Given the description of an element on the screen output the (x, y) to click on. 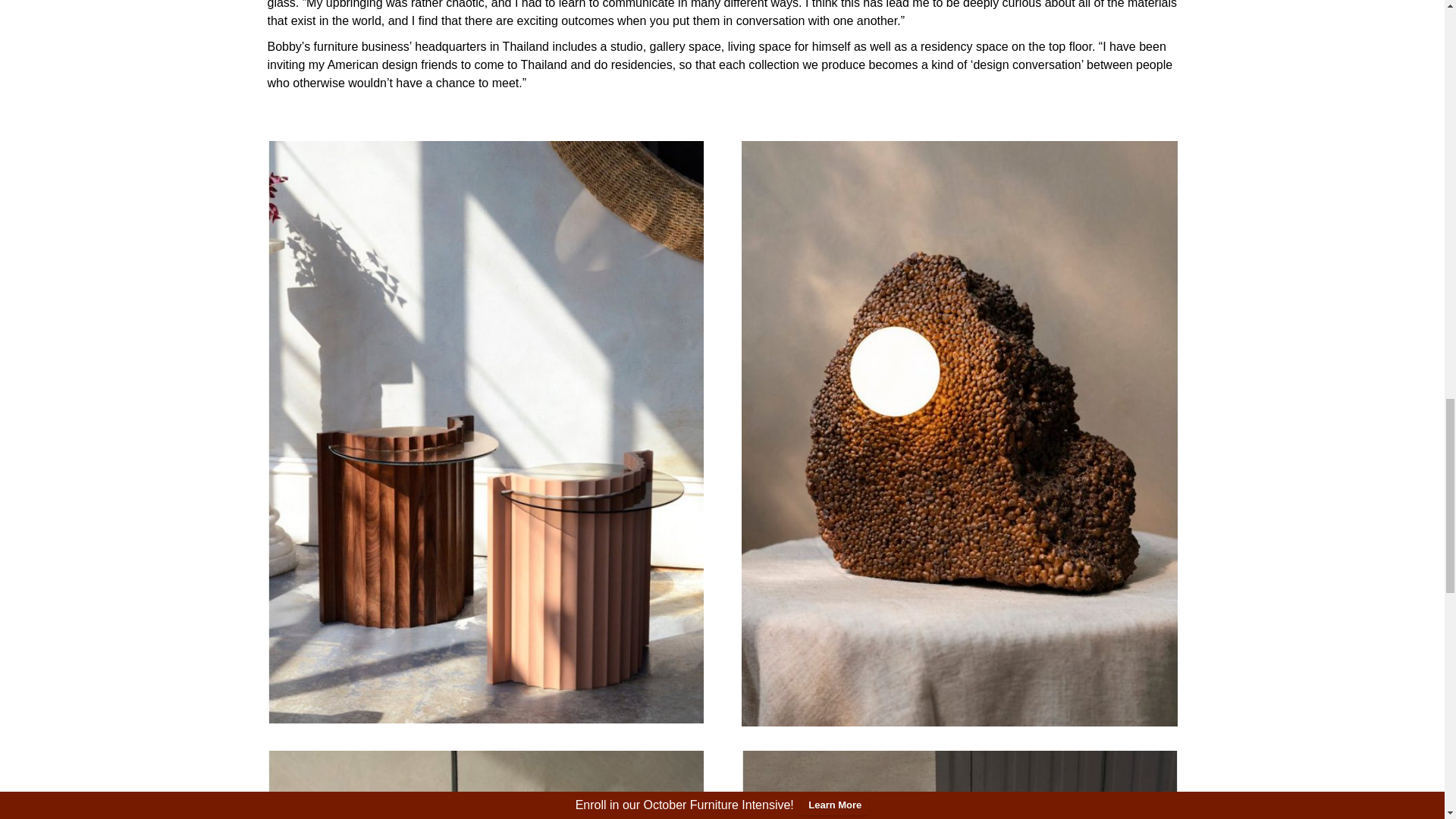
Ban Pa Ao Lighting scaled (484, 785)
